Given the description of an element on the screen output the (x, y) to click on. 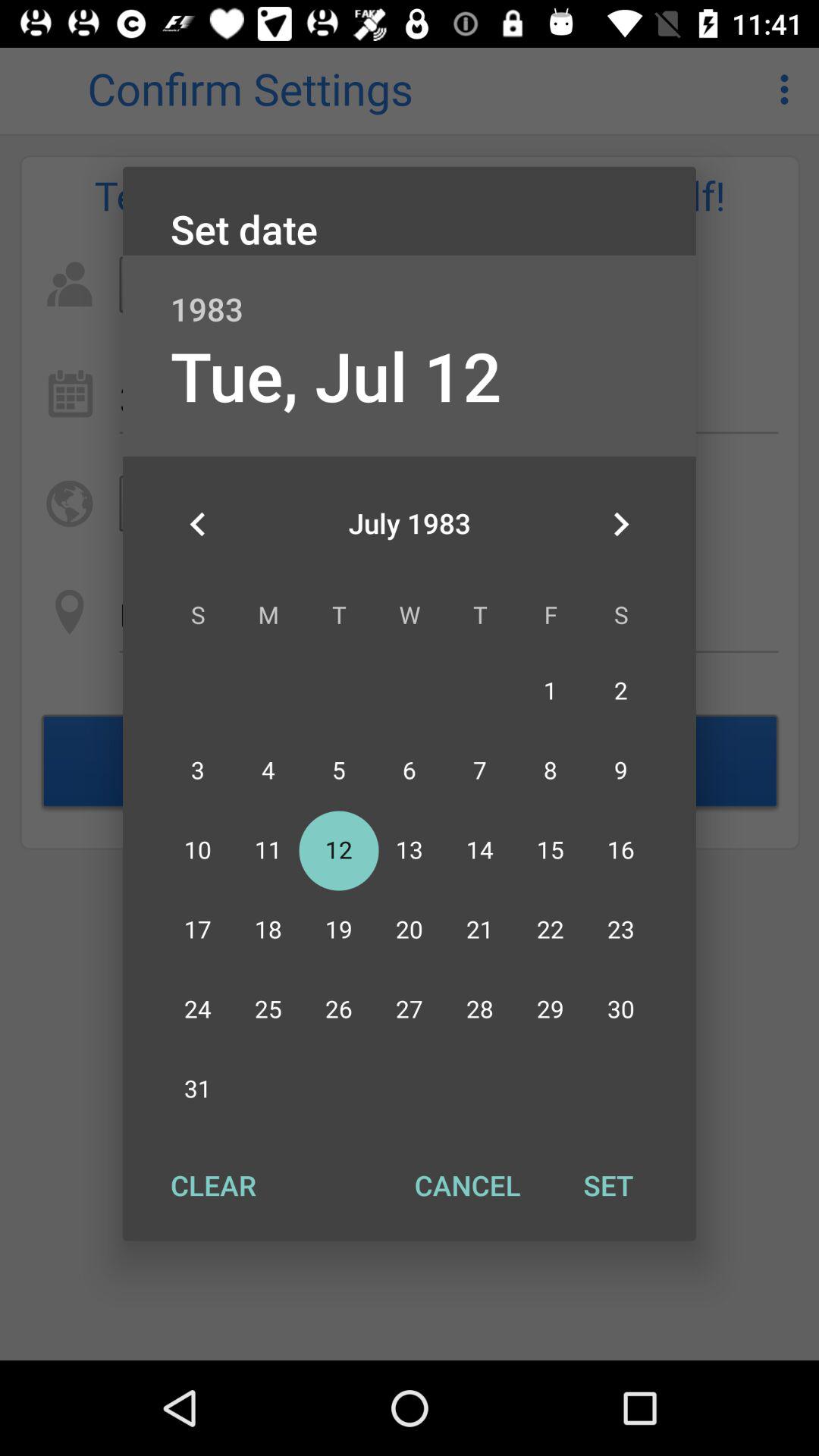
press item at the bottom (467, 1185)
